Given the description of an element on the screen output the (x, y) to click on. 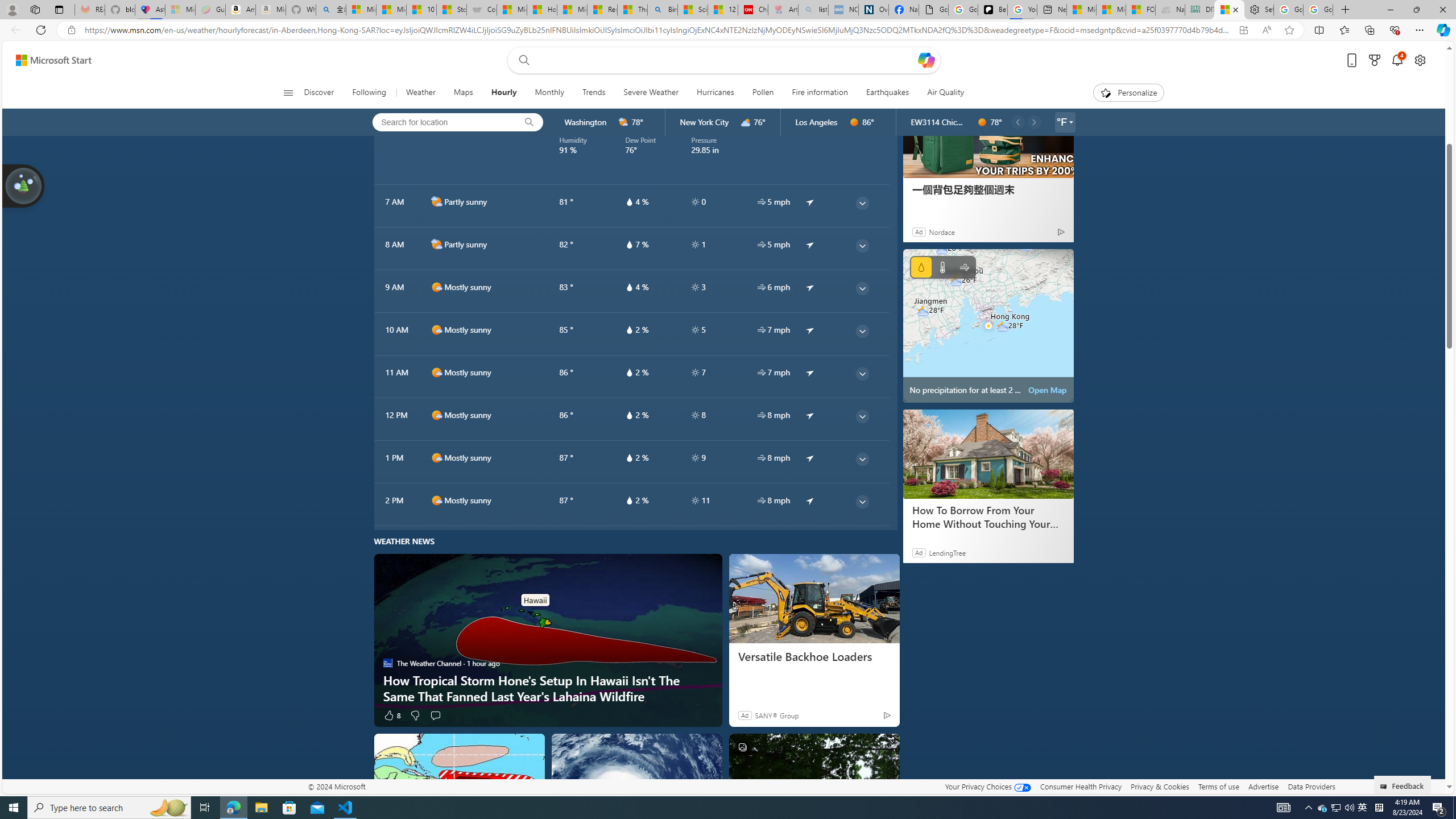
Monthly (549, 92)
Versatile Backhoe Loaders (814, 656)
Maps (462, 92)
Dislike (414, 714)
Stocks - MSN (450, 9)
Start the conversation (435, 714)
12 Popular Science Lies that Must be Corrected (722, 9)
